Given the description of an element on the screen output the (x, y) to click on. 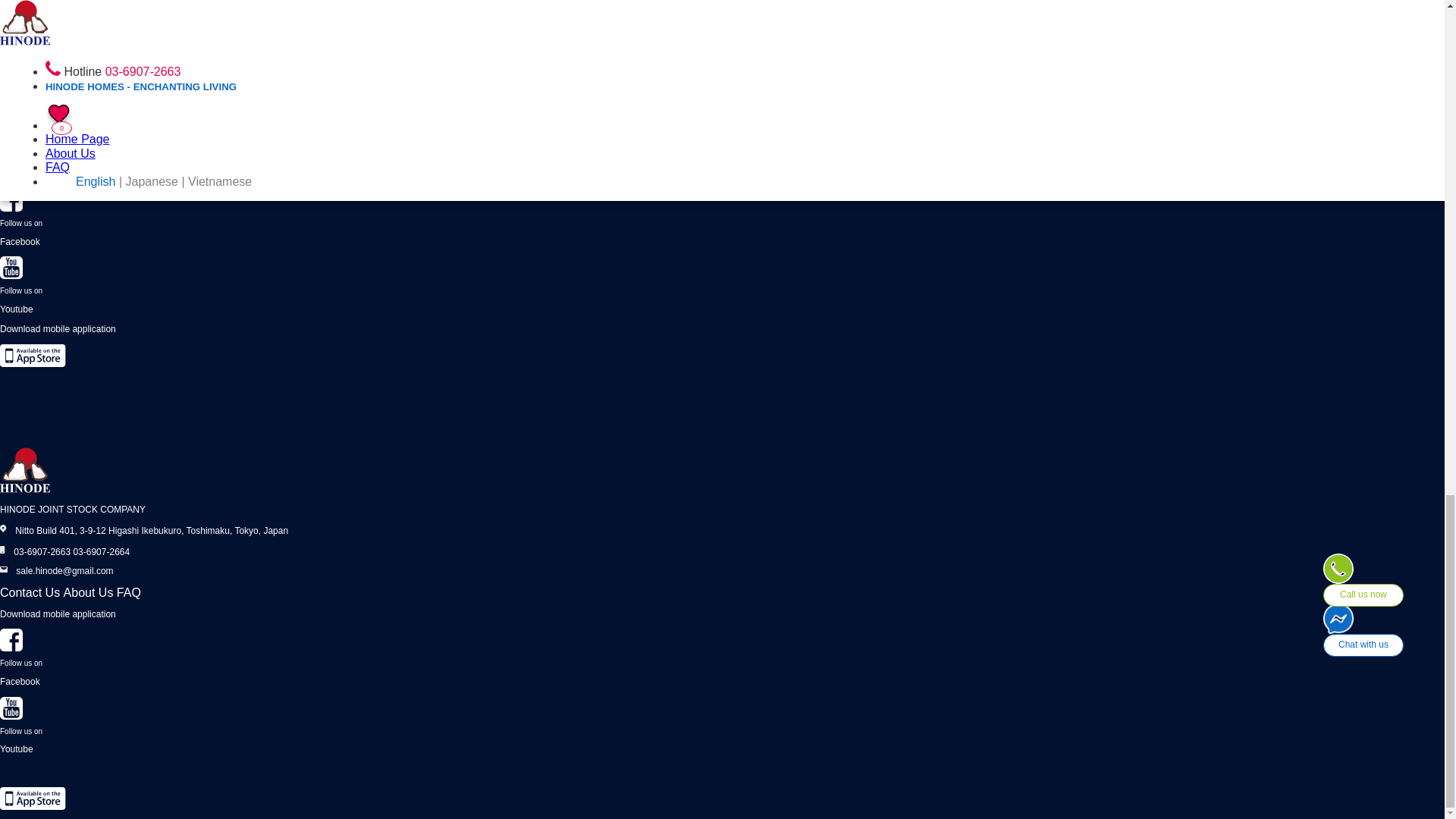
03-6907-2664 (66, 142)
03-6907-2663 (21, 142)
FAQ (128, 2)
Contact Us (29, 592)
Contact Us (29, 2)
About Us (88, 2)
03-6907-2663 (41, 552)
03-6907-2664 (100, 552)
